Given the description of an element on the screen output the (x, y) to click on. 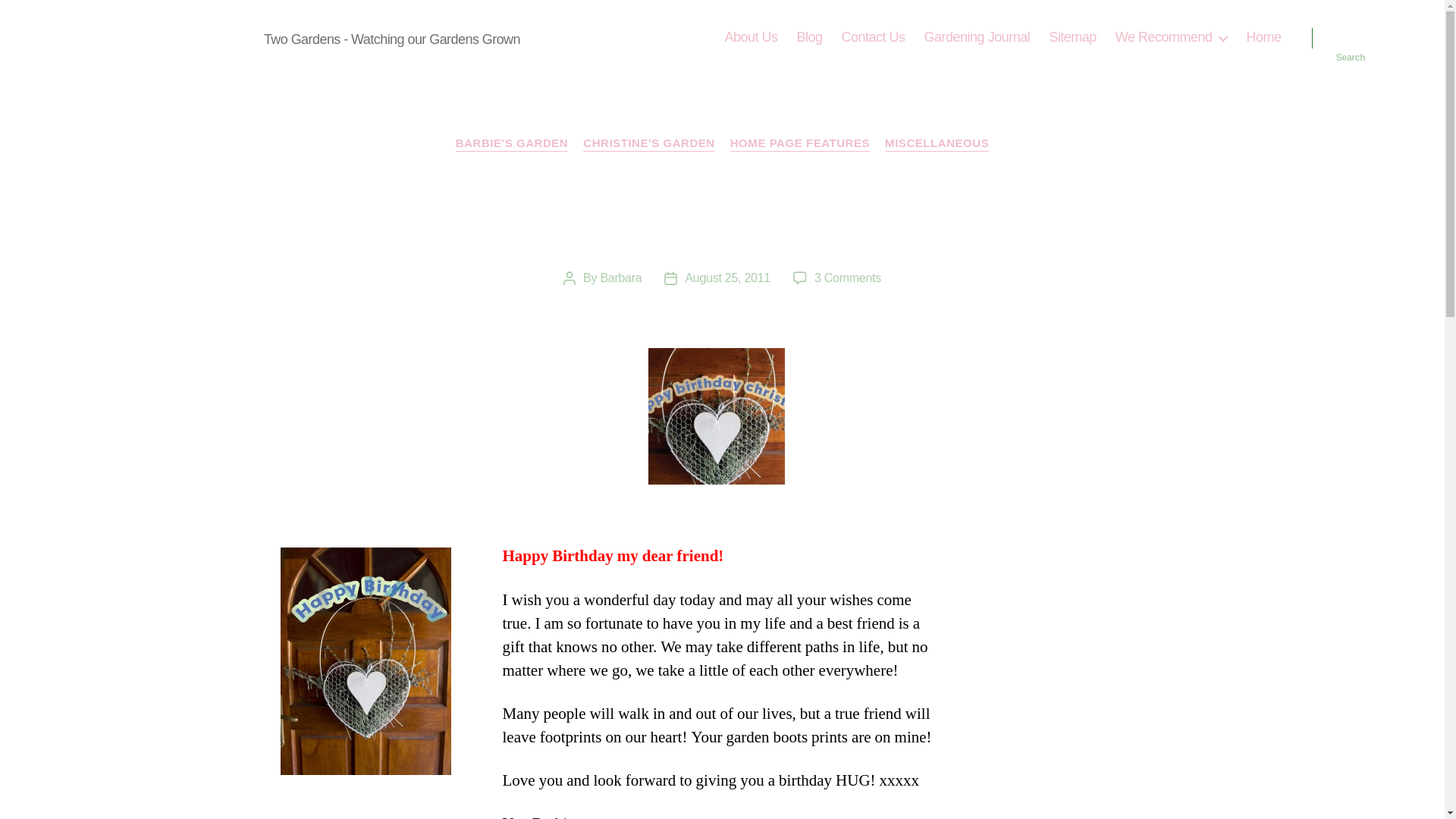
Gardening Journal (977, 37)
Contact Us (873, 37)
Sitemap (1072, 37)
CHRISTINE'S GARDEN (648, 143)
Home (1263, 37)
The Gardening Blog (164, 37)
About Us (750, 37)
Search (1350, 37)
We Recommend (1171, 37)
Blog (809, 37)
BARBIE'S GARDEN (512, 143)
